Given the description of an element on the screen output the (x, y) to click on. 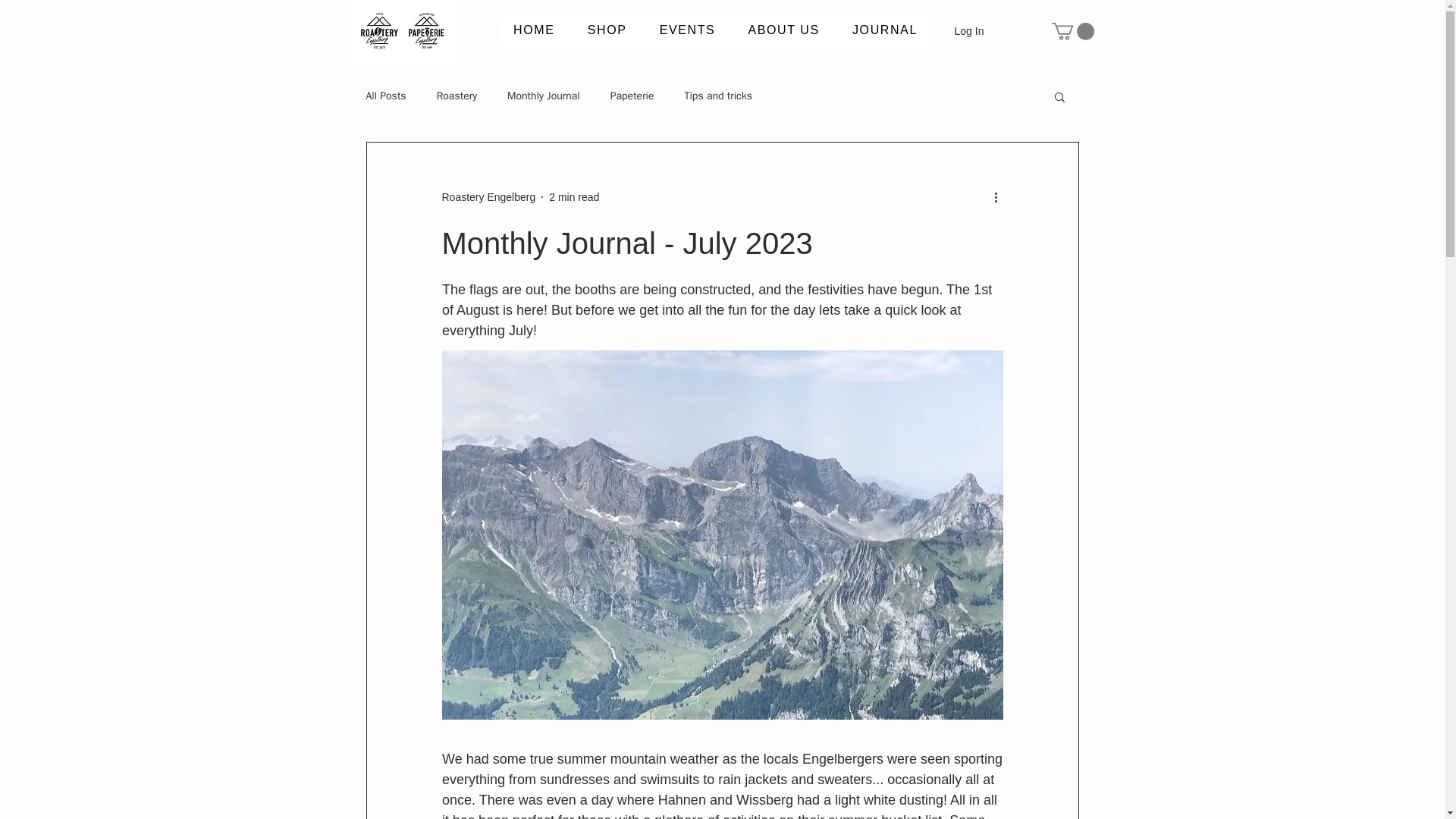
Tips and tricks (718, 96)
Roastery Engelberg (488, 197)
JOURNAL (884, 30)
SHOP (672, 48)
EVENTS (687, 30)
All Posts (385, 96)
Roastery Engelberg (488, 197)
2 min read (573, 196)
HOME (572, 48)
Log In (962, 31)
Papeterie (631, 96)
JOURNAL (783, 48)
CONTACT (884, 48)
Roastery (456, 96)
Monthly Journal (542, 96)
